Given the description of an element on the screen output the (x, y) to click on. 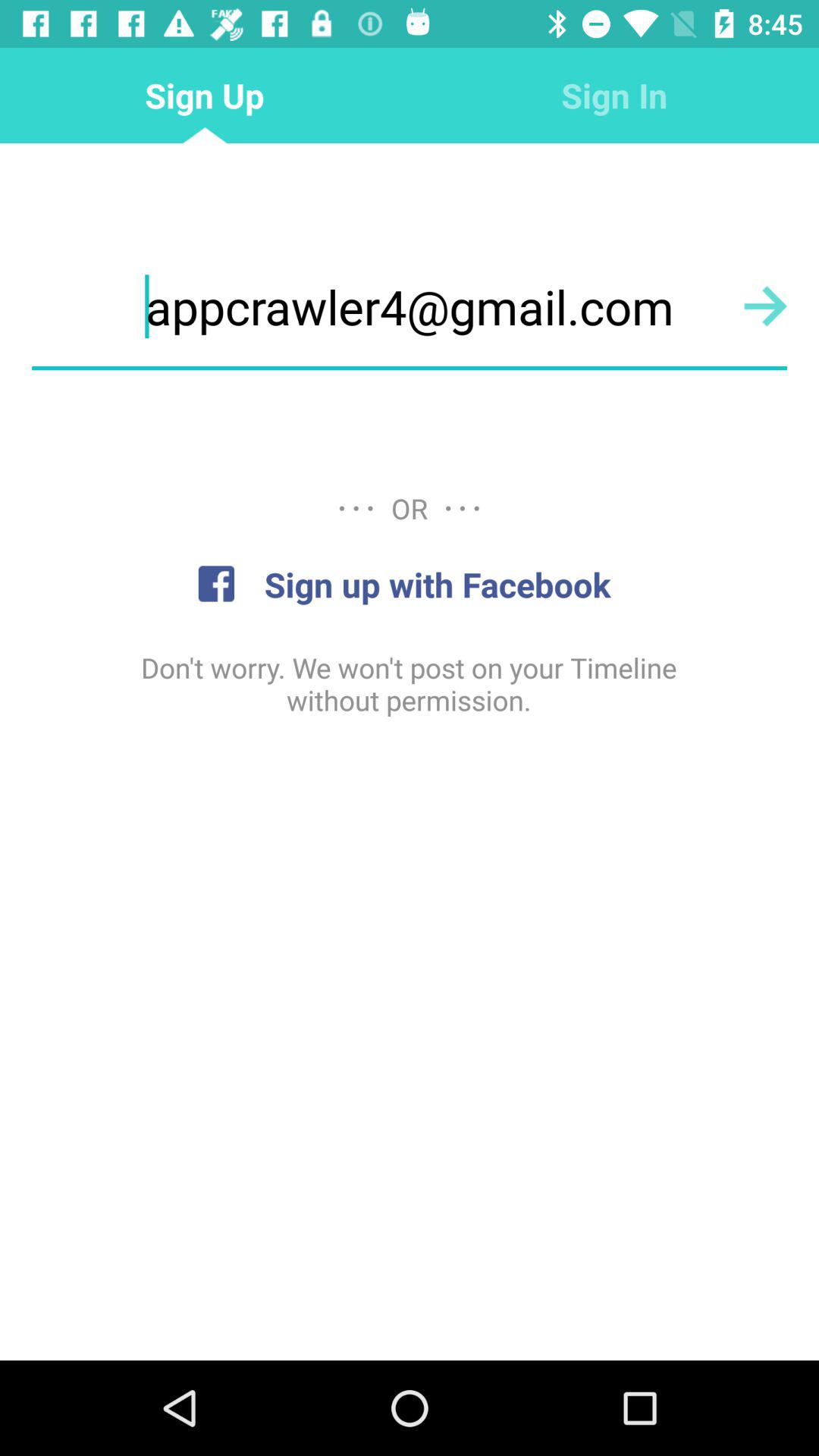
launch the appcrawler4@gmail.com icon (409, 306)
